Given the description of an element on the screen output the (x, y) to click on. 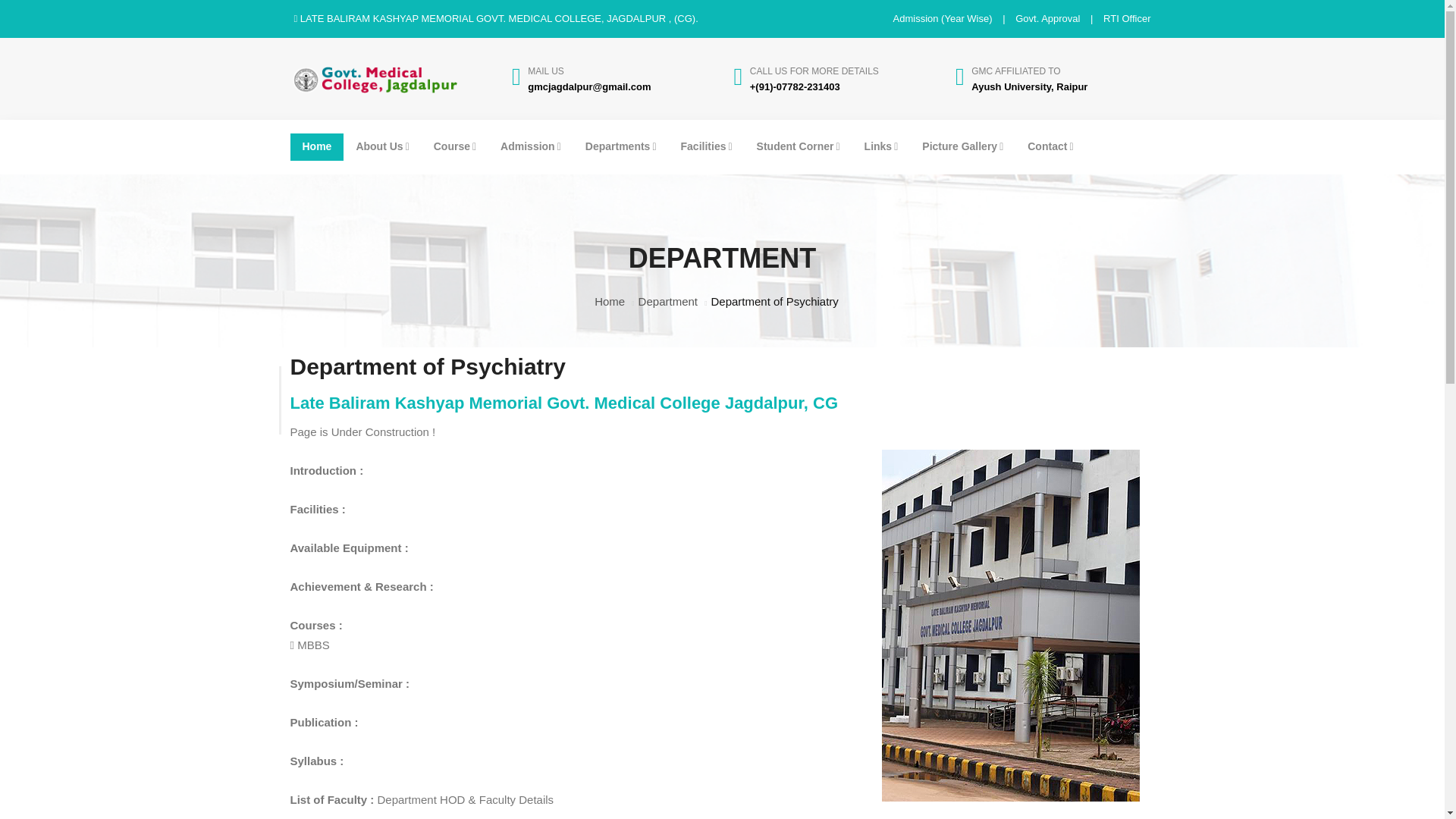
Admission (530, 146)
RTI Officer (1126, 18)
Govt. Approval (1047, 18)
Course (454, 146)
MAIL US (545, 71)
GMC AFFILIATED TO (1015, 71)
Departments (620, 146)
CALL US FOR MORE DETAILS (814, 71)
About Us (381, 146)
Home (316, 146)
